Given the description of an element on the screen output the (x, y) to click on. 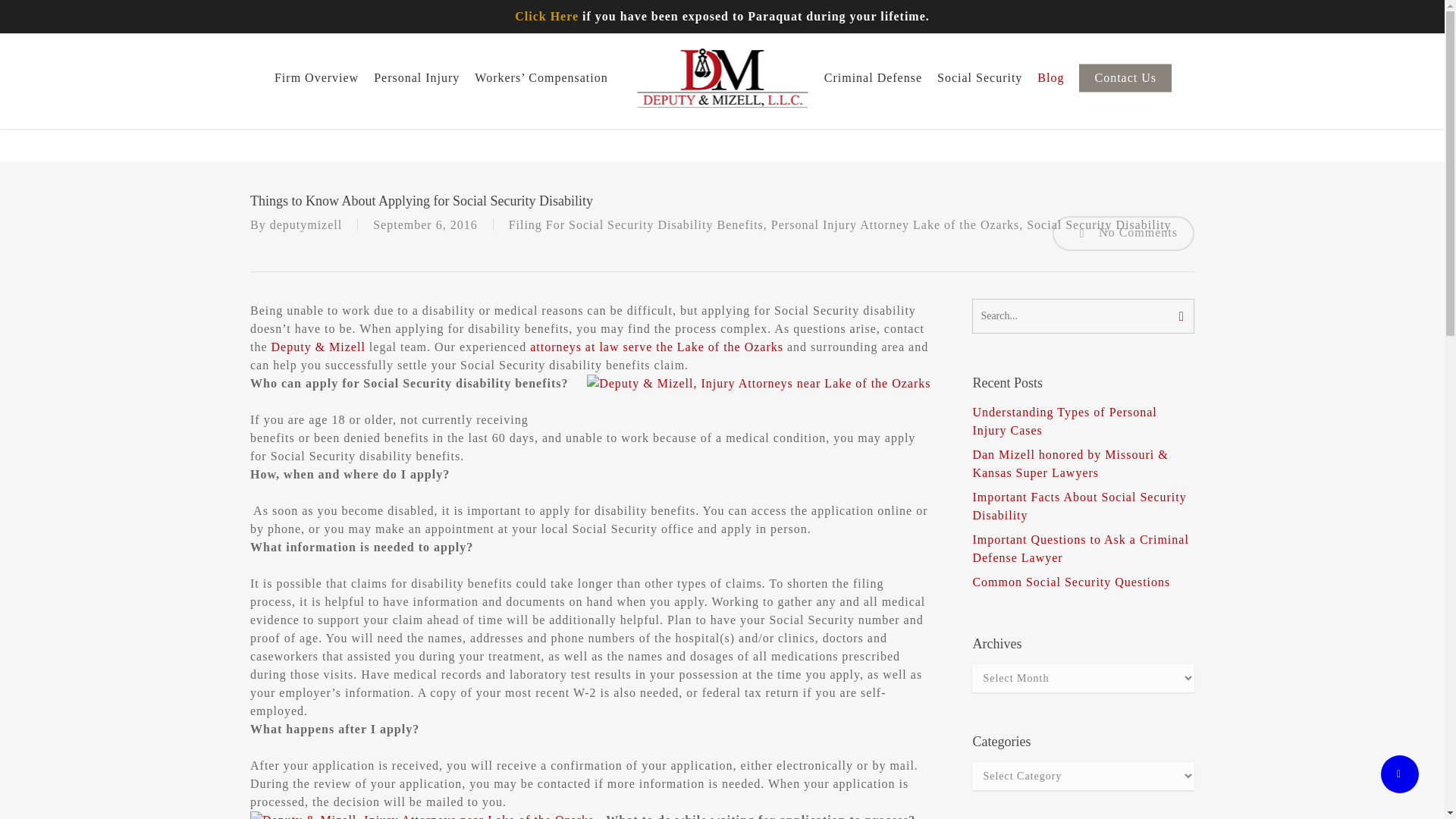
Posts by deputymizell (305, 224)
Click Here (546, 15)
Firm Overview (932, 11)
Contact Us (1391, 11)
Criminal Defense (1205, 11)
Personal Injury (1010, 11)
Firm Overview (316, 77)
Social Security (1286, 11)
facebook (30, 12)
Search for: (1082, 315)
linkedin (50, 12)
Blog (1343, 11)
